Given the description of an element on the screen output the (x, y) to click on. 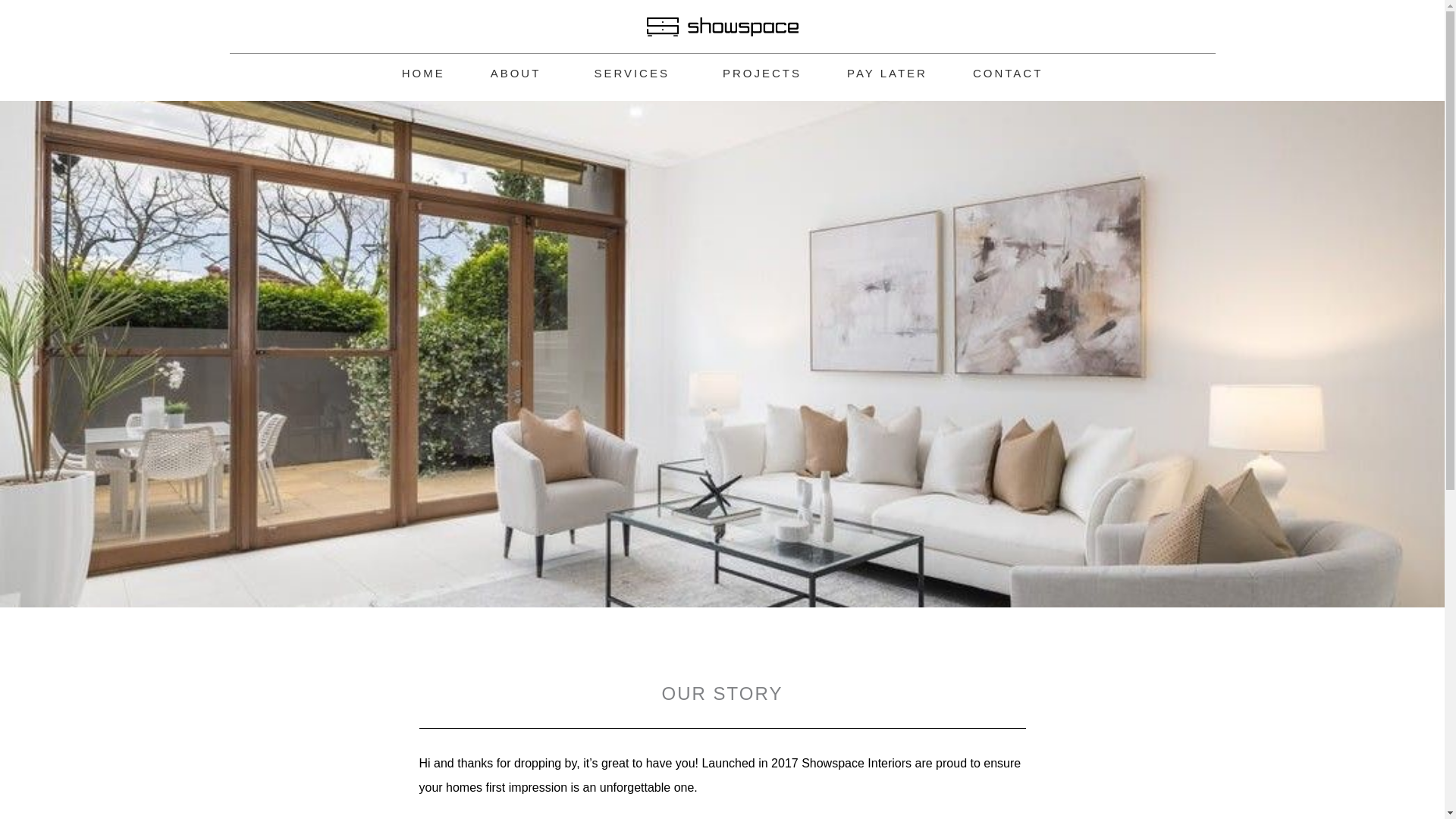
PROJECTS (762, 73)
SERVICES (635, 73)
PAY LATER (887, 73)
HOME (422, 73)
ABOUT (519, 73)
CONTACT (1007, 73)
